Given the description of an element on the screen output the (x, y) to click on. 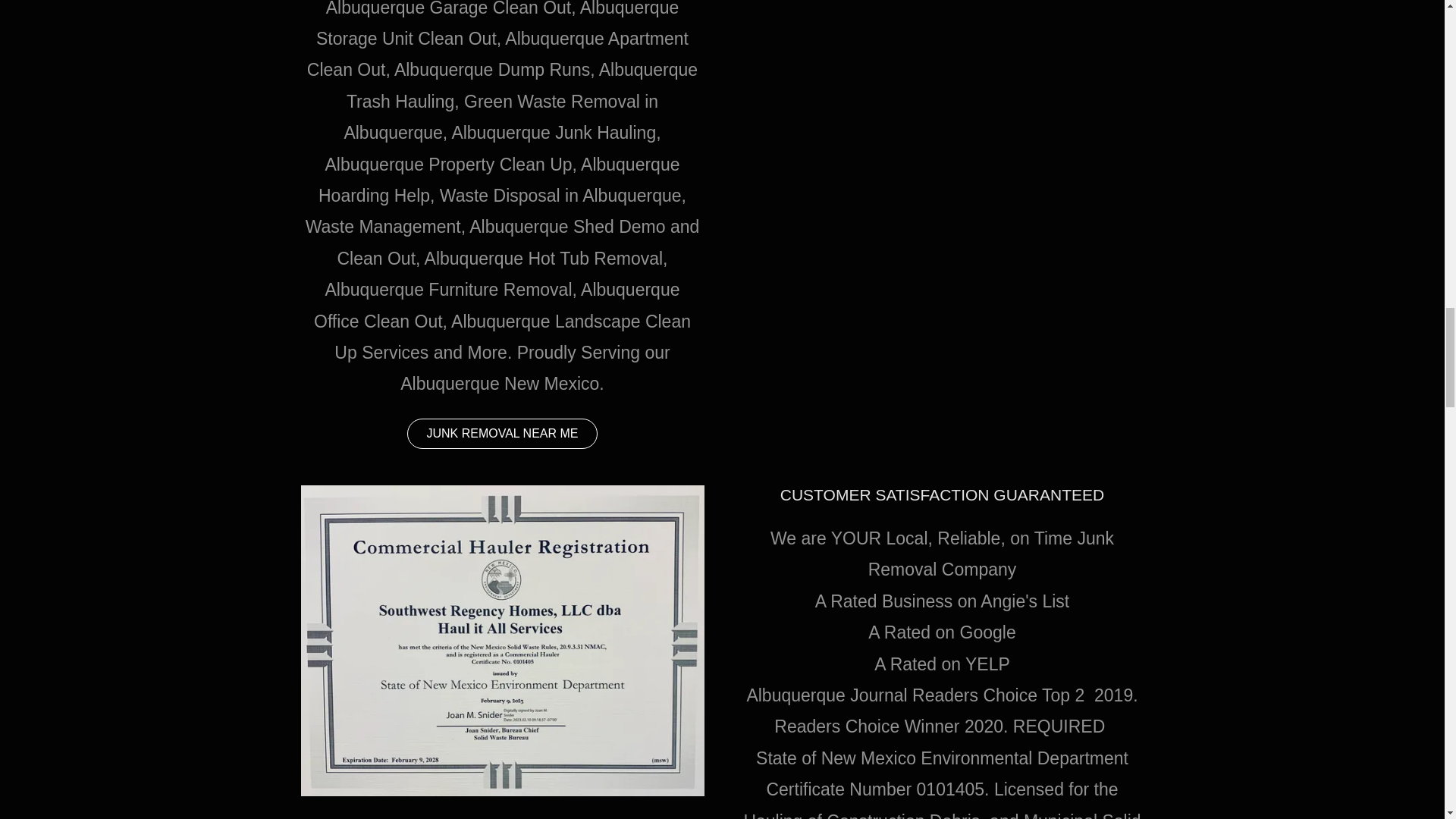
JUNK REMOVAL NEAR ME (501, 433)
